Given the description of an element on the screen output the (x, y) to click on. 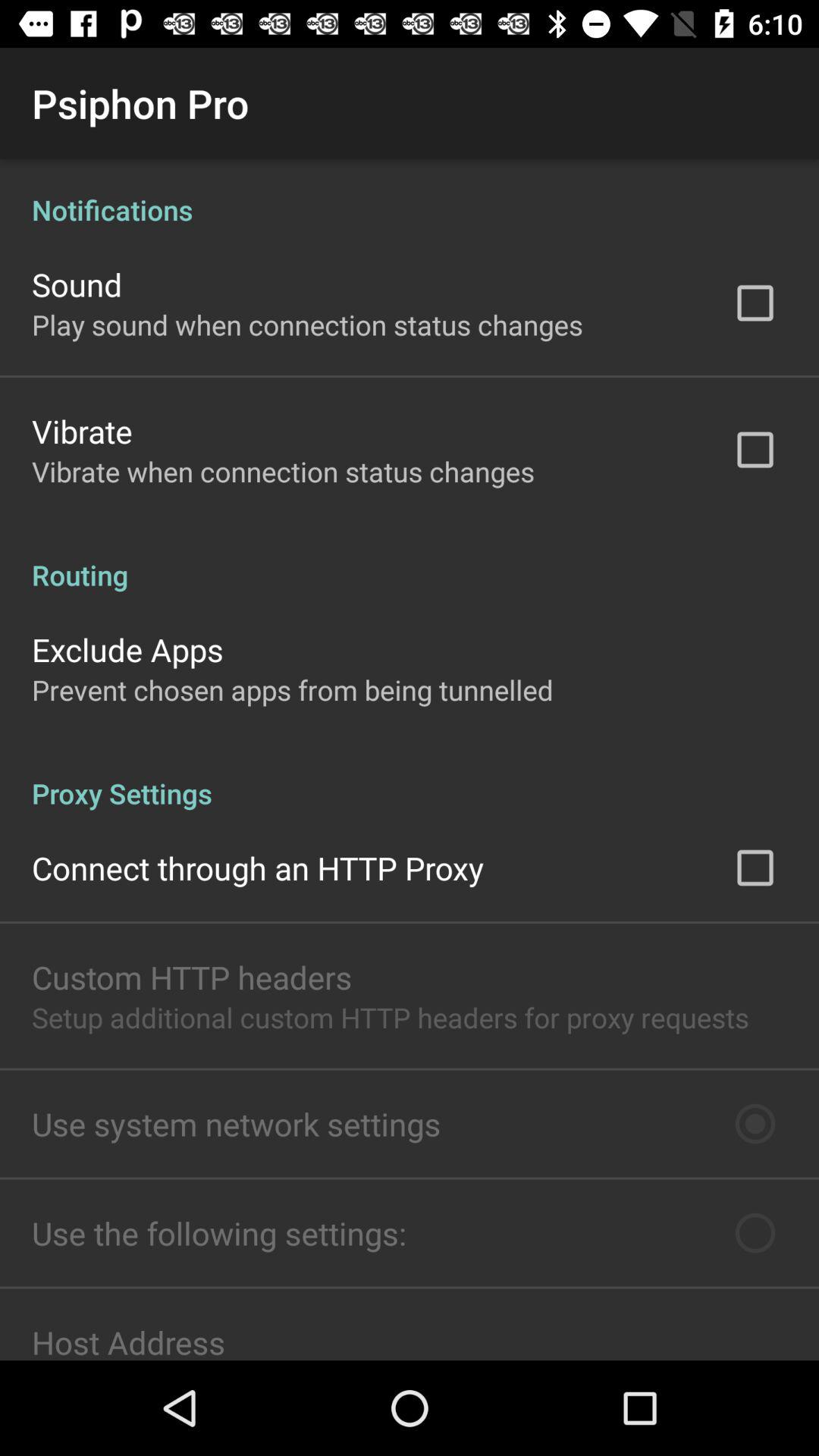
choose item below the custom http headers app (390, 1017)
